Given the description of an element on the screen output the (x, y) to click on. 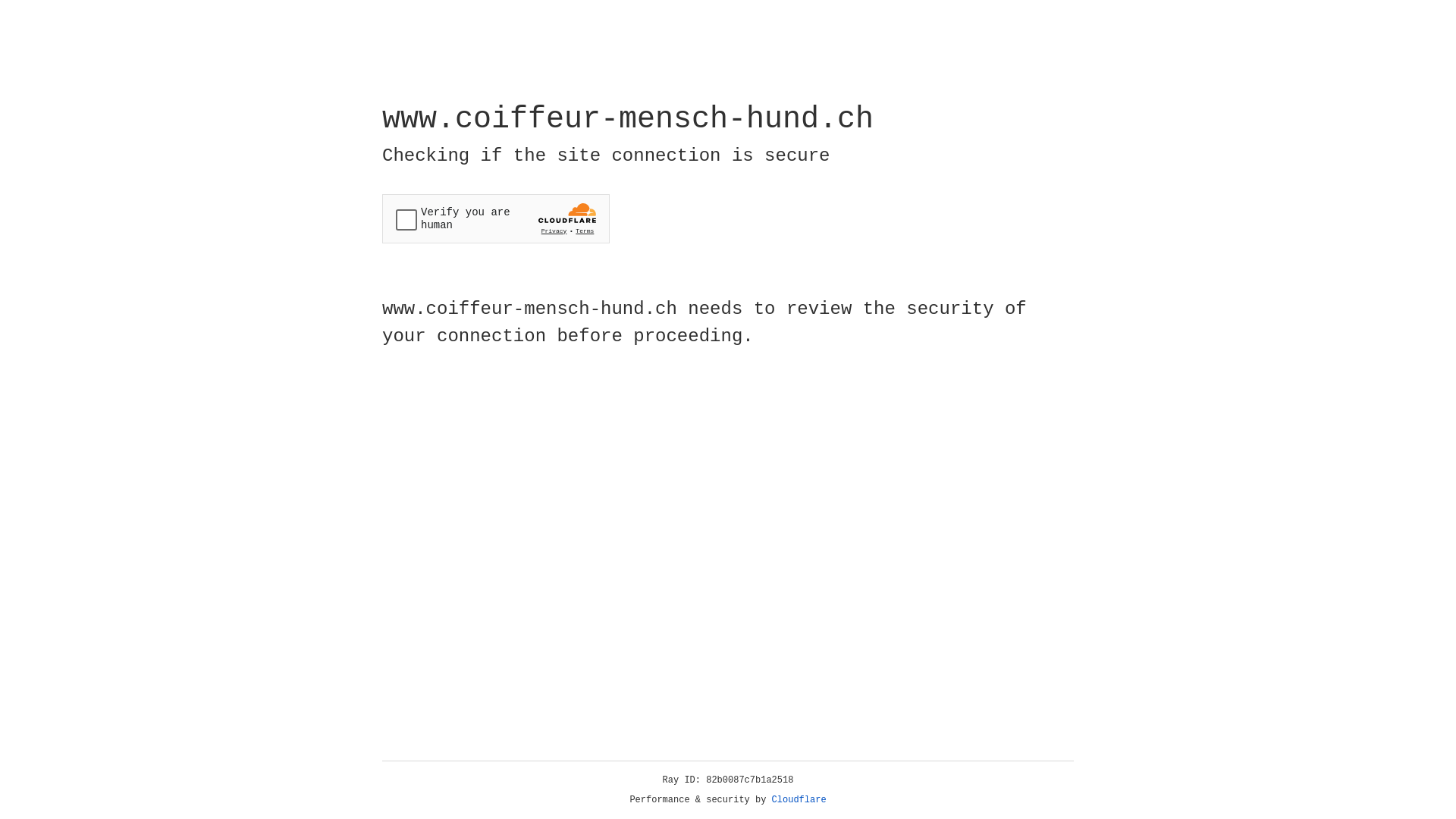
Cloudflare Element type: text (798, 799)
Widget containing a Cloudflare security challenge Element type: hover (495, 218)
